Given the description of an element on the screen output the (x, y) to click on. 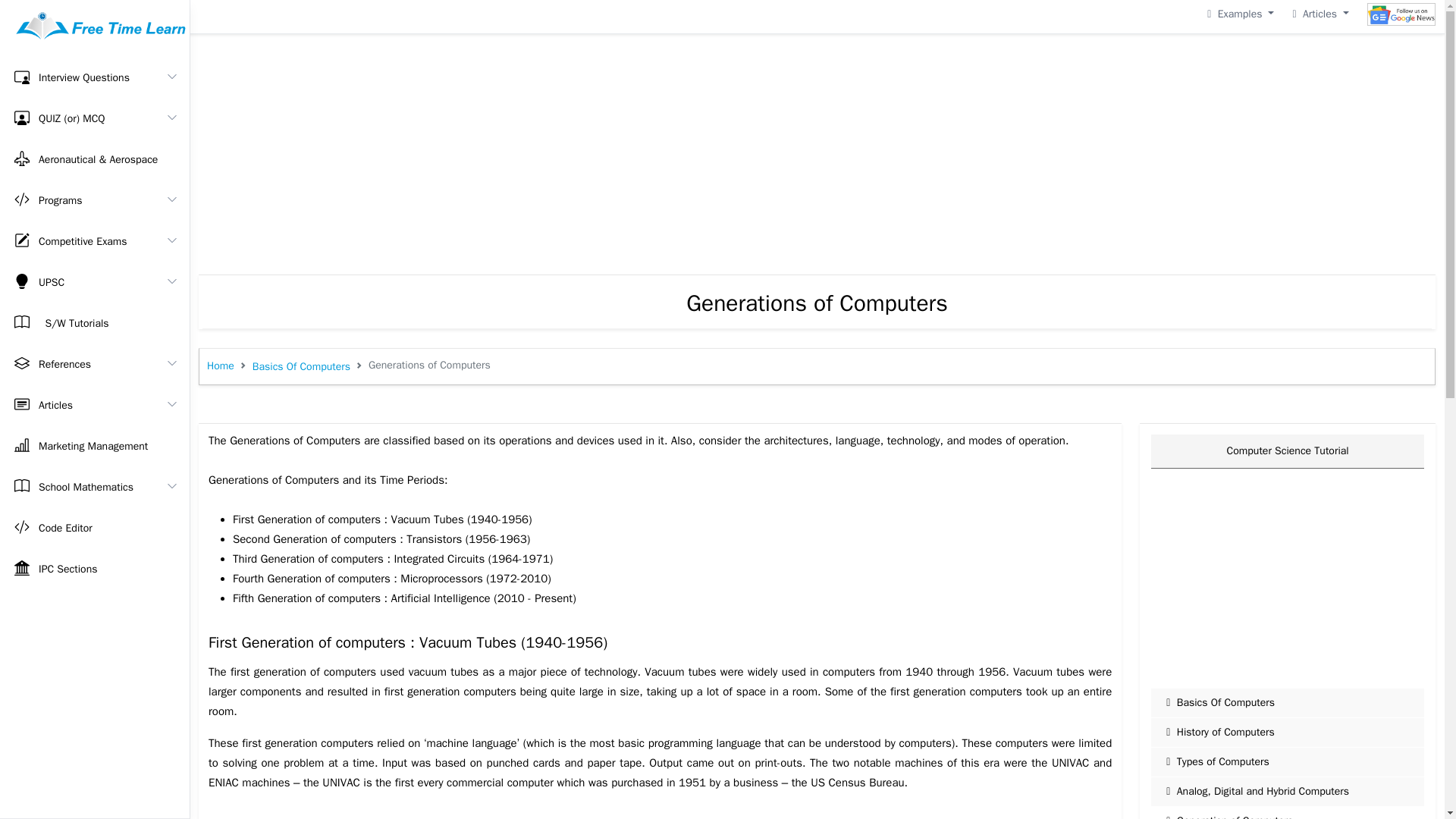
Competitive Exams (94, 241)
Interview Questions (94, 77)
Daily Updates (1401, 13)
Notifications (1320, 13)
  Examples (1240, 13)
Notifications (1240, 13)
  Articles (1320, 13)
Programs (94, 200)
